Given the description of an element on the screen output the (x, y) to click on. 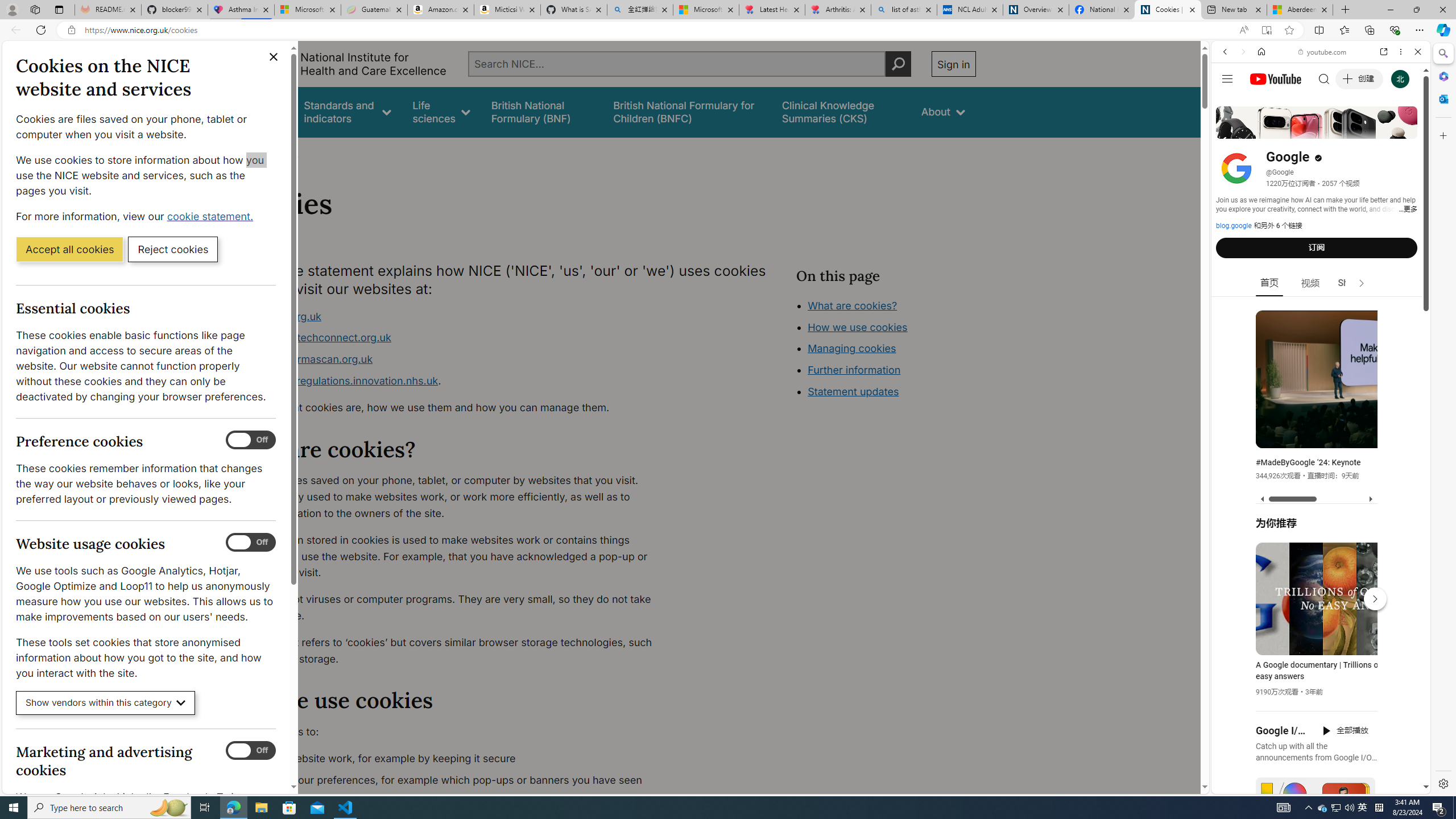
#you (1320, 253)
Trailer #2 [HD] (1320, 337)
About (283, 152)
Search Filter, IMAGES (1262, 129)
